Given the description of an element on the screen output the (x, y) to click on. 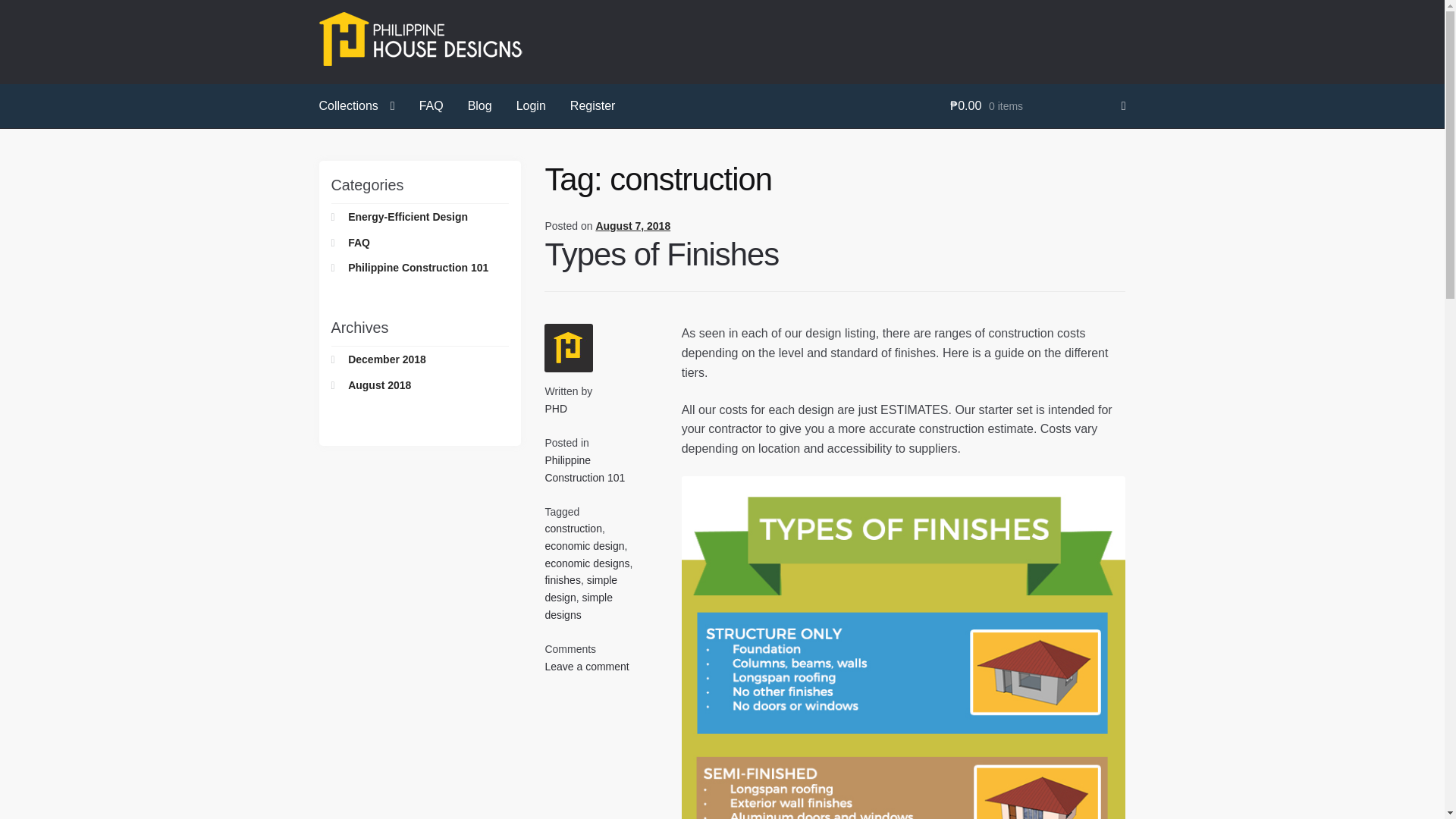
Register (592, 105)
economic design (584, 545)
Collections (357, 105)
August 7, 2018 (632, 225)
View your shopping cart (1037, 105)
construction (572, 528)
FAQ (431, 105)
Types of Finishes (661, 253)
PHD (555, 408)
Blog (479, 105)
Philippine Construction 101 (584, 469)
economic designs (586, 563)
Login (530, 105)
